Given the description of an element on the screen output the (x, y) to click on. 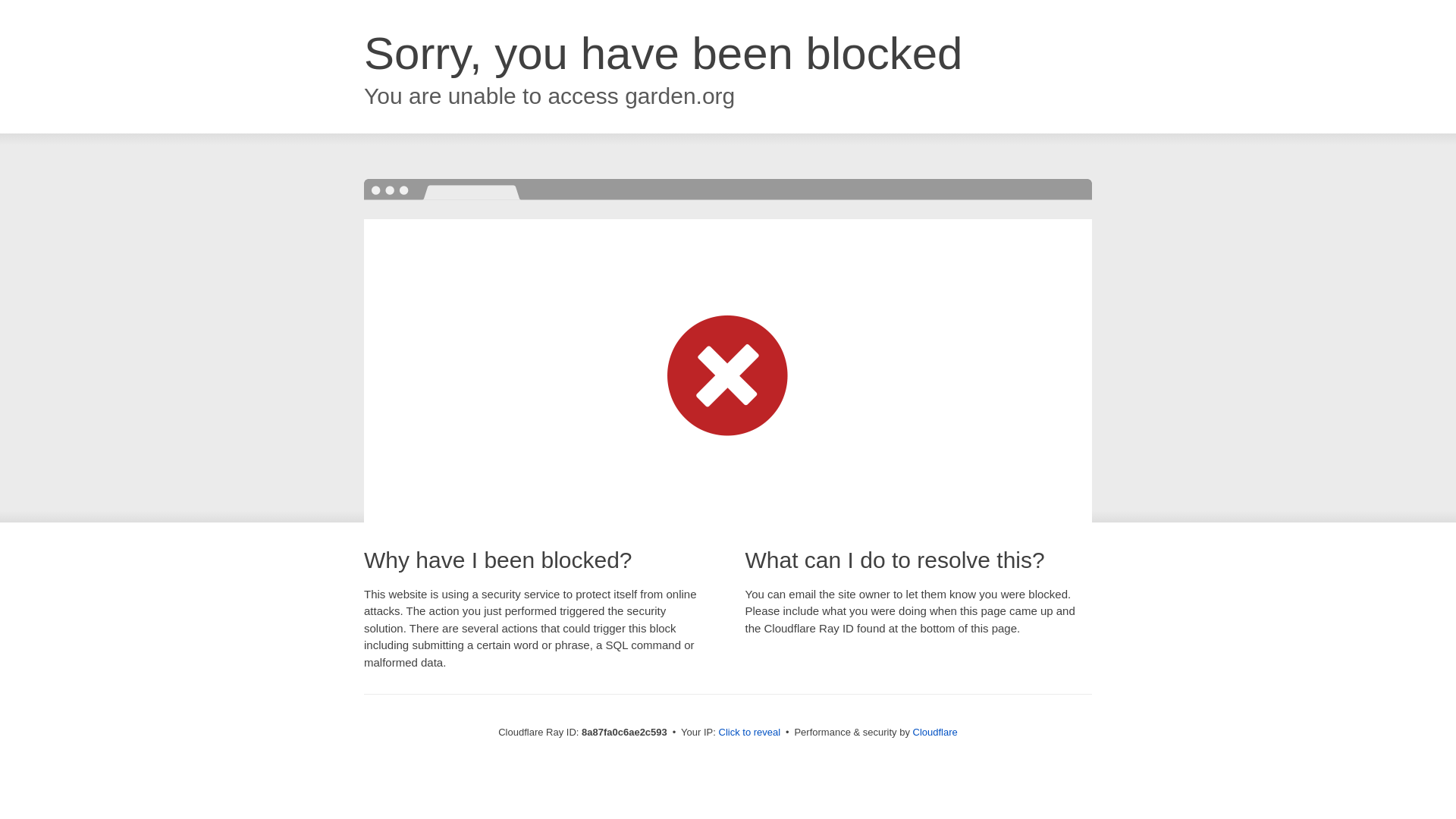
Click to reveal (749, 732)
Cloudflare (935, 731)
